Given the description of an element on the screen output the (x, y) to click on. 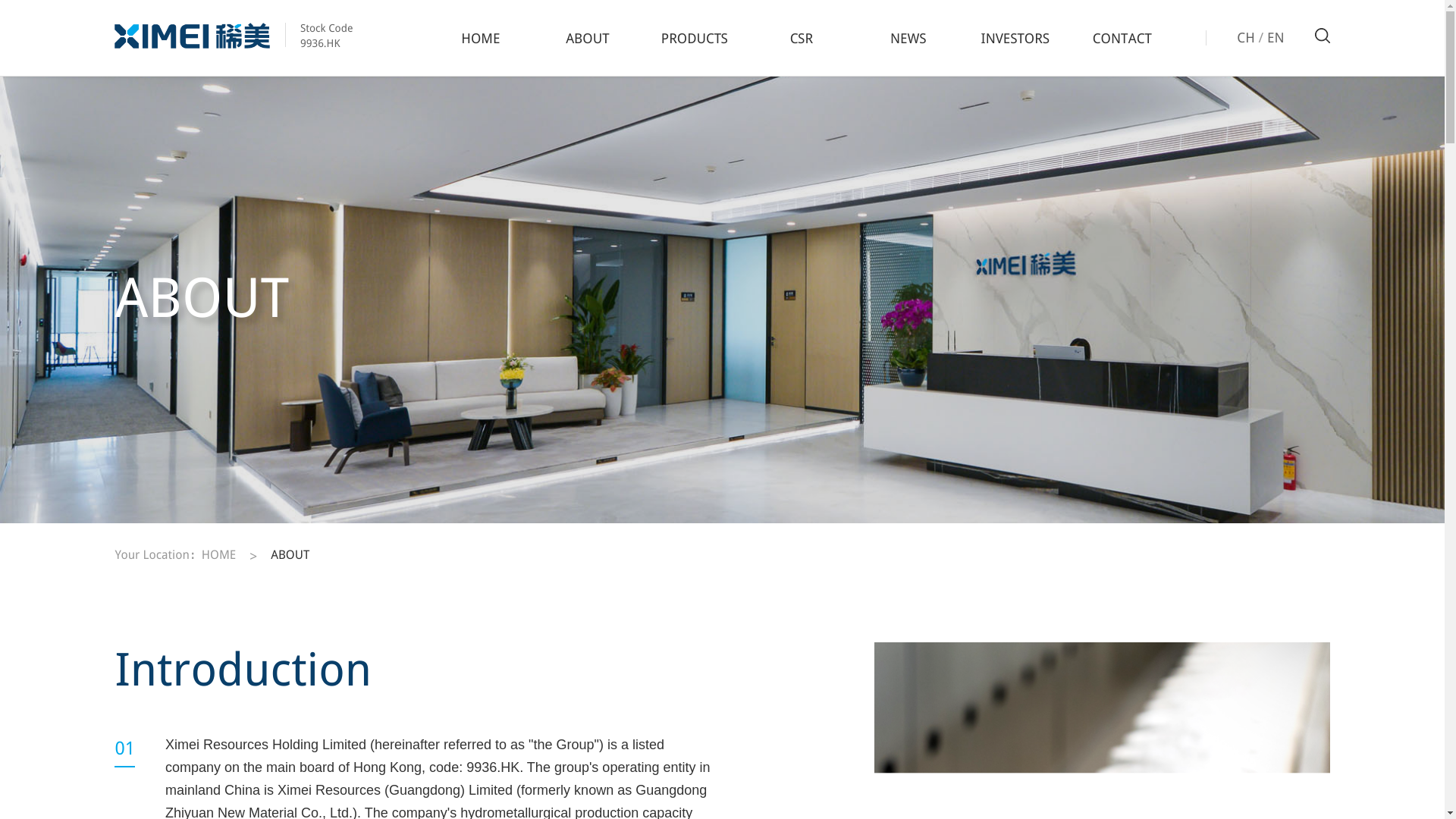
HOME (218, 556)
HOME (480, 38)
ABOUT (289, 556)
PRODUCTS (694, 38)
CH (1244, 37)
CSR (801, 38)
INVESTORS (1014, 38)
NEWS (907, 38)
CONTACT (1121, 38)
ABOUT (587, 38)
